Given the description of an element on the screen output the (x, y) to click on. 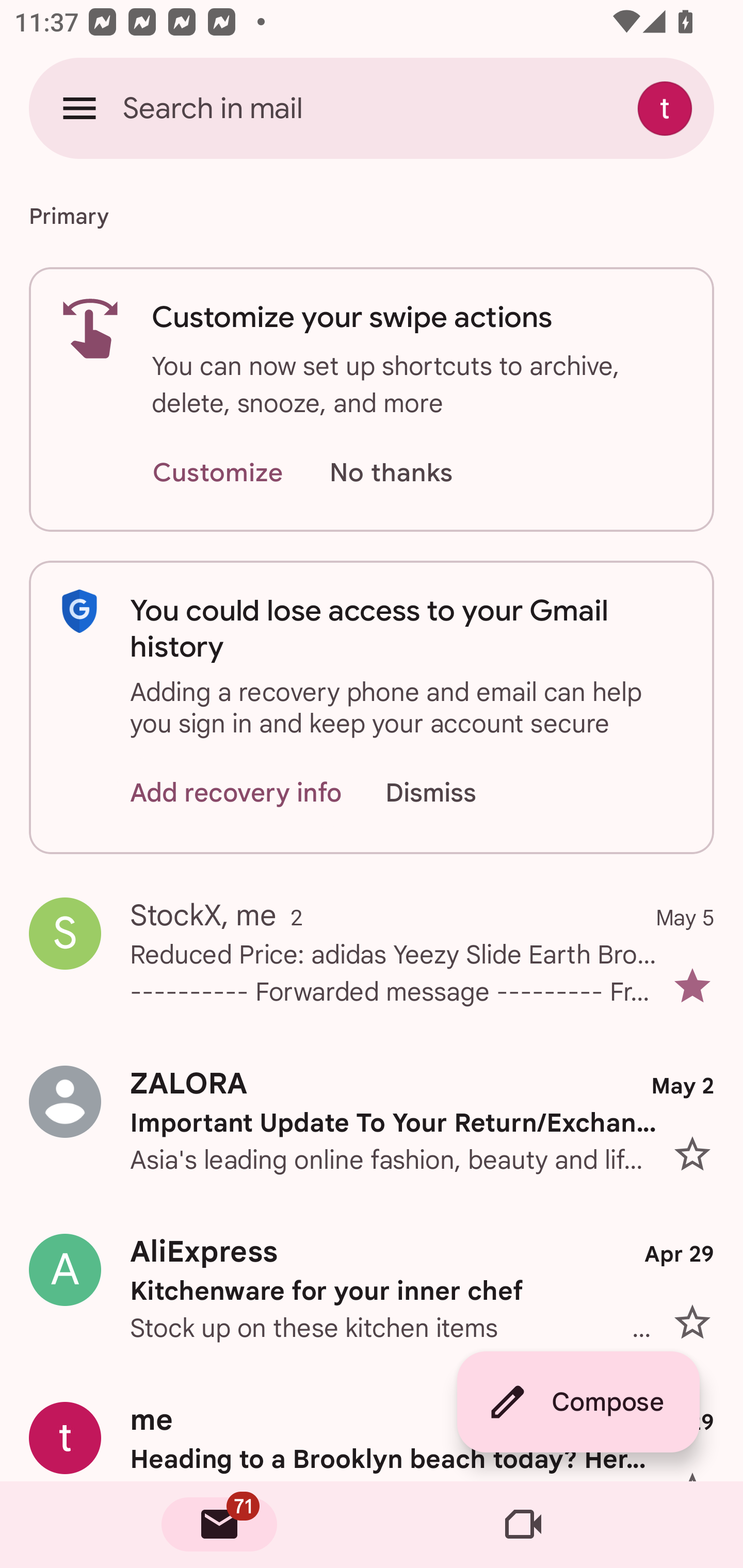
Open navigation drawer (79, 108)
Customize (217, 473)
No thanks (390, 473)
Add recovery info (235, 792)
Dismiss (449, 792)
Compose (577, 1401)
Meet (523, 1524)
